Given the description of an element on the screen output the (x, y) to click on. 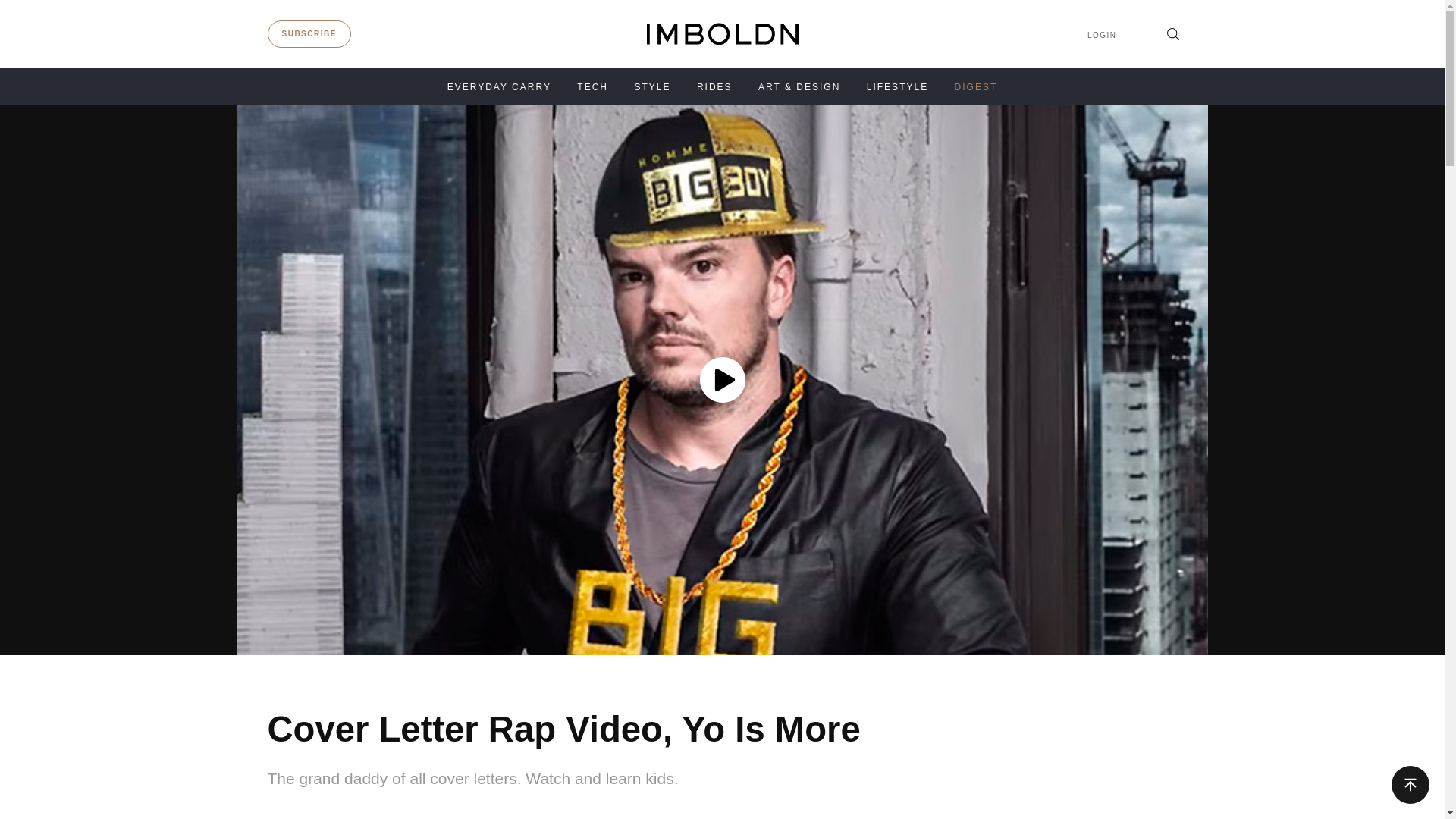
Login (1101, 35)
DIGEST (976, 86)
TECH (592, 86)
LIFESTYLE (897, 86)
SUBSCRIBE (309, 33)
RIDES (714, 86)
LOGIN (1101, 35)
STYLE (651, 86)
EVERYDAY CARRY (498, 86)
Advertisement (1047, 771)
